Given the description of an element on the screen output the (x, y) to click on. 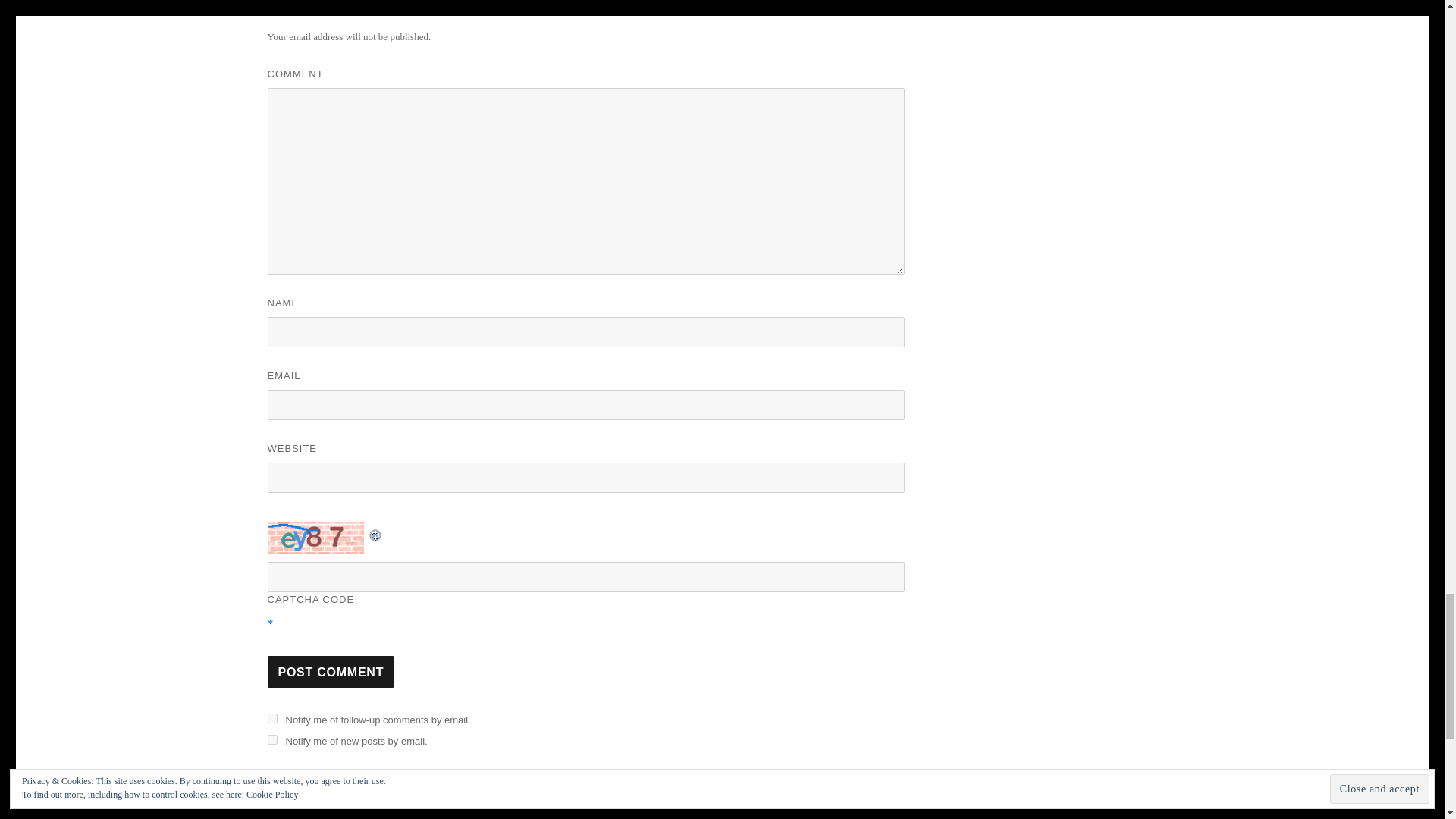
subscribe (271, 718)
CAPTCHA (316, 537)
Post Comment (330, 671)
Refresh (375, 531)
Post Comment (330, 671)
subscribe (271, 739)
